Given the description of an element on the screen output the (x, y) to click on. 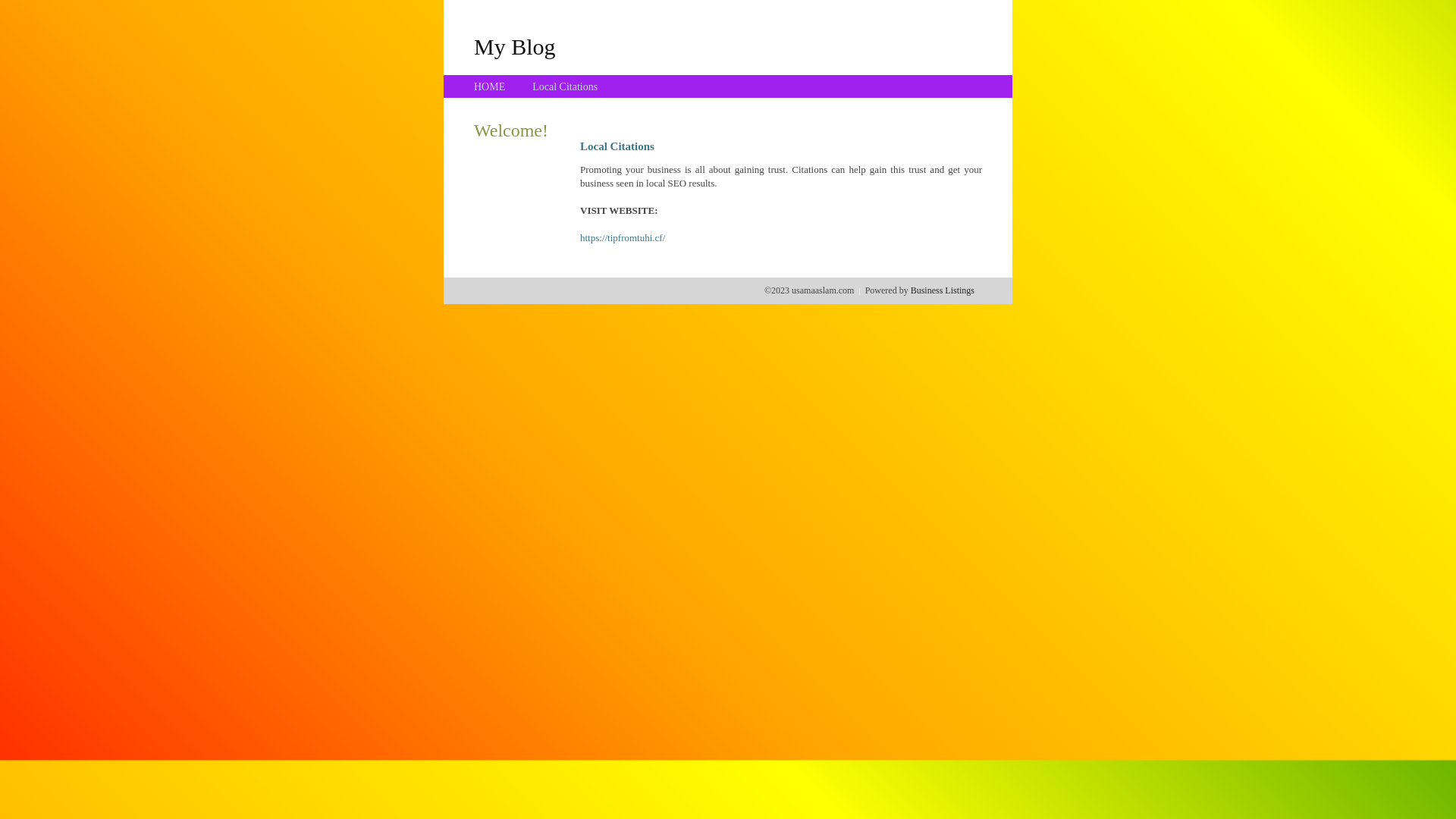
HOME Element type: text (489, 86)
https://tipfromtuhi.cf/ Element type: text (622, 237)
Local Citations Element type: text (564, 86)
My Blog Element type: text (514, 46)
Business Listings Element type: text (942, 290)
